Given the description of an element on the screen output the (x, y) to click on. 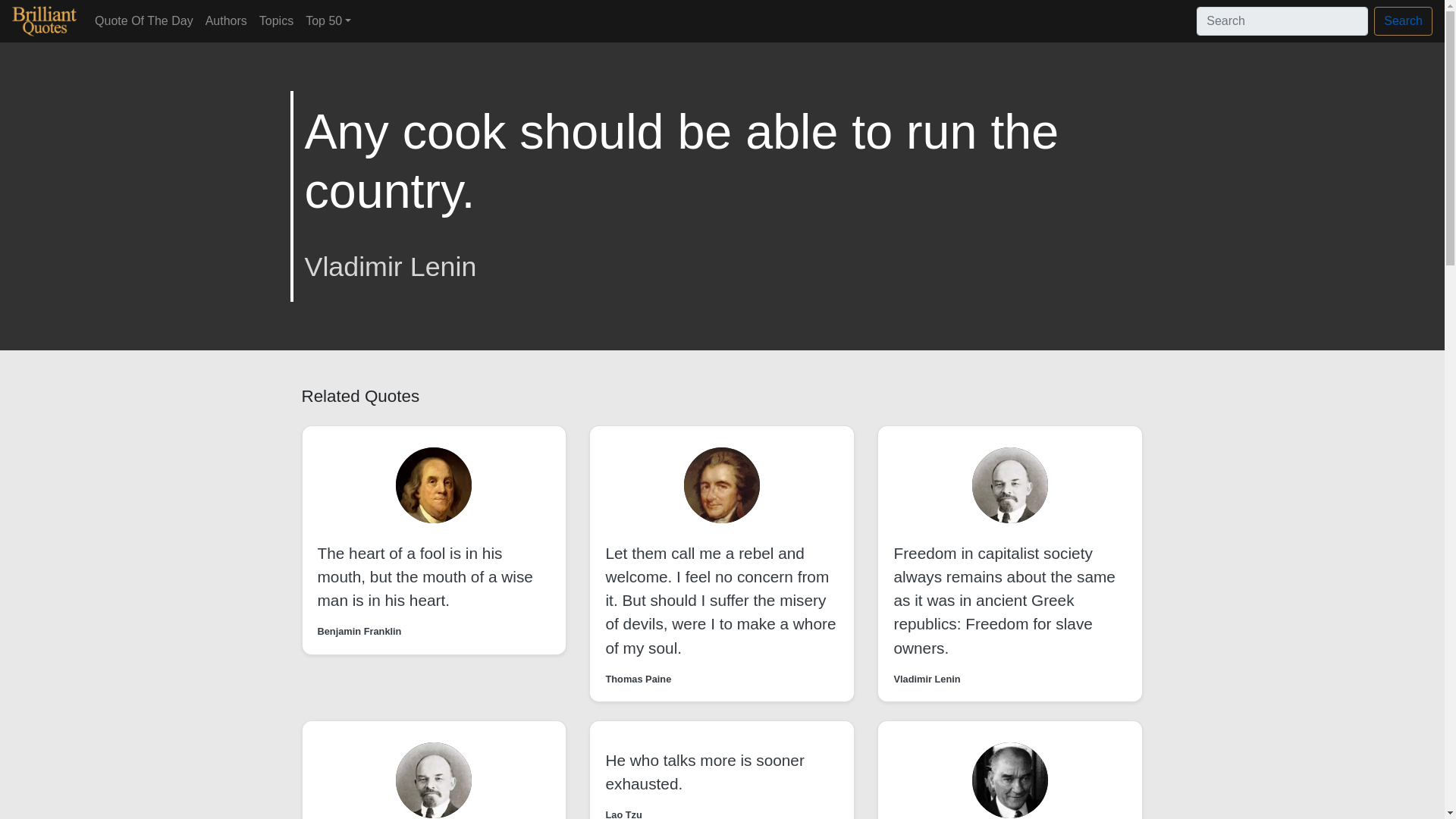
Lao Tzu (623, 813)
Topics (276, 20)
He who talks more is sooner exhausted. (704, 771)
Thomas Paine (638, 678)
Benjamin Franklin (359, 631)
Authors (226, 20)
Search (1403, 21)
Vladimir Lenin (926, 678)
Quote Of The Day (143, 20)
Top 50 (327, 20)
